Given the description of an element on the screen output the (x, y) to click on. 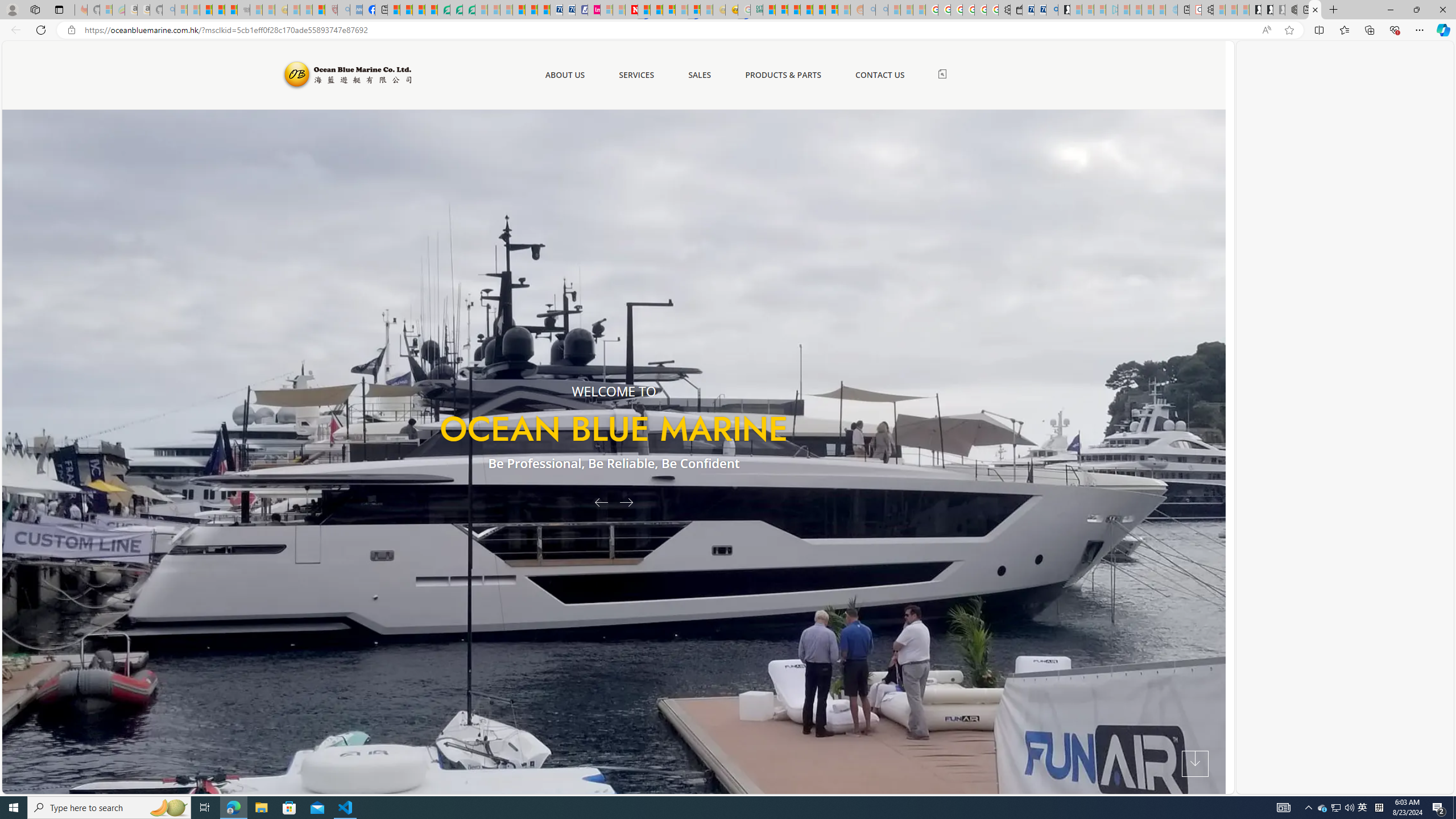
LendingTree - Compare Lenders (443, 9)
